Given the description of an element on the screen output the (x, y) to click on. 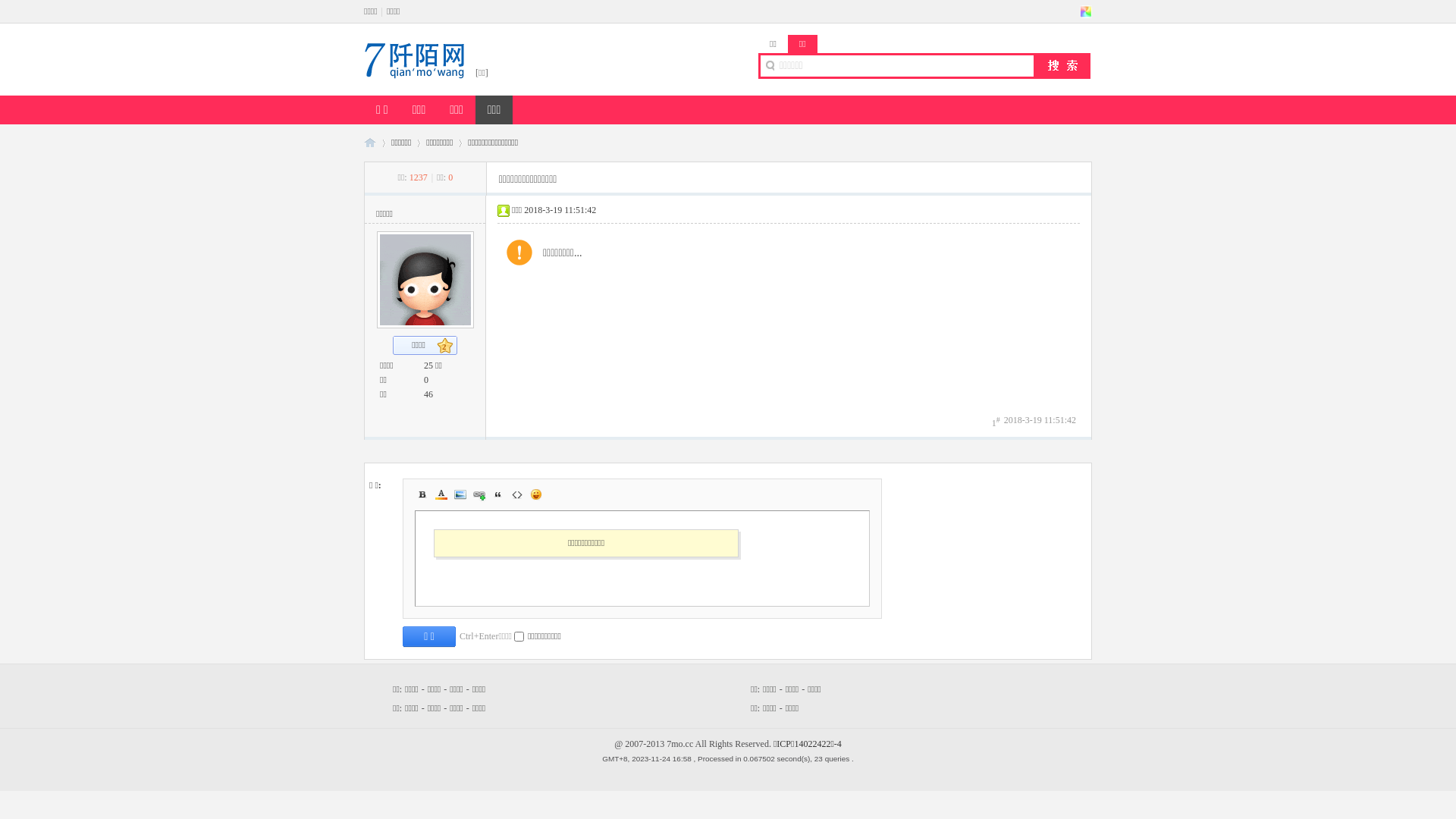
1# Element type: text (995, 421)
Link Element type: text (478, 494)
Smilies Element type: text (535, 494)
Color Element type: text (440, 494)
  Element type: text (1085, 11)
B Element type: text (421, 494)
Code Element type: text (516, 494)
Image Element type: text (459, 494)
Quote Element type: text (497, 494)
